Given the description of an element on the screen output the (x, y) to click on. 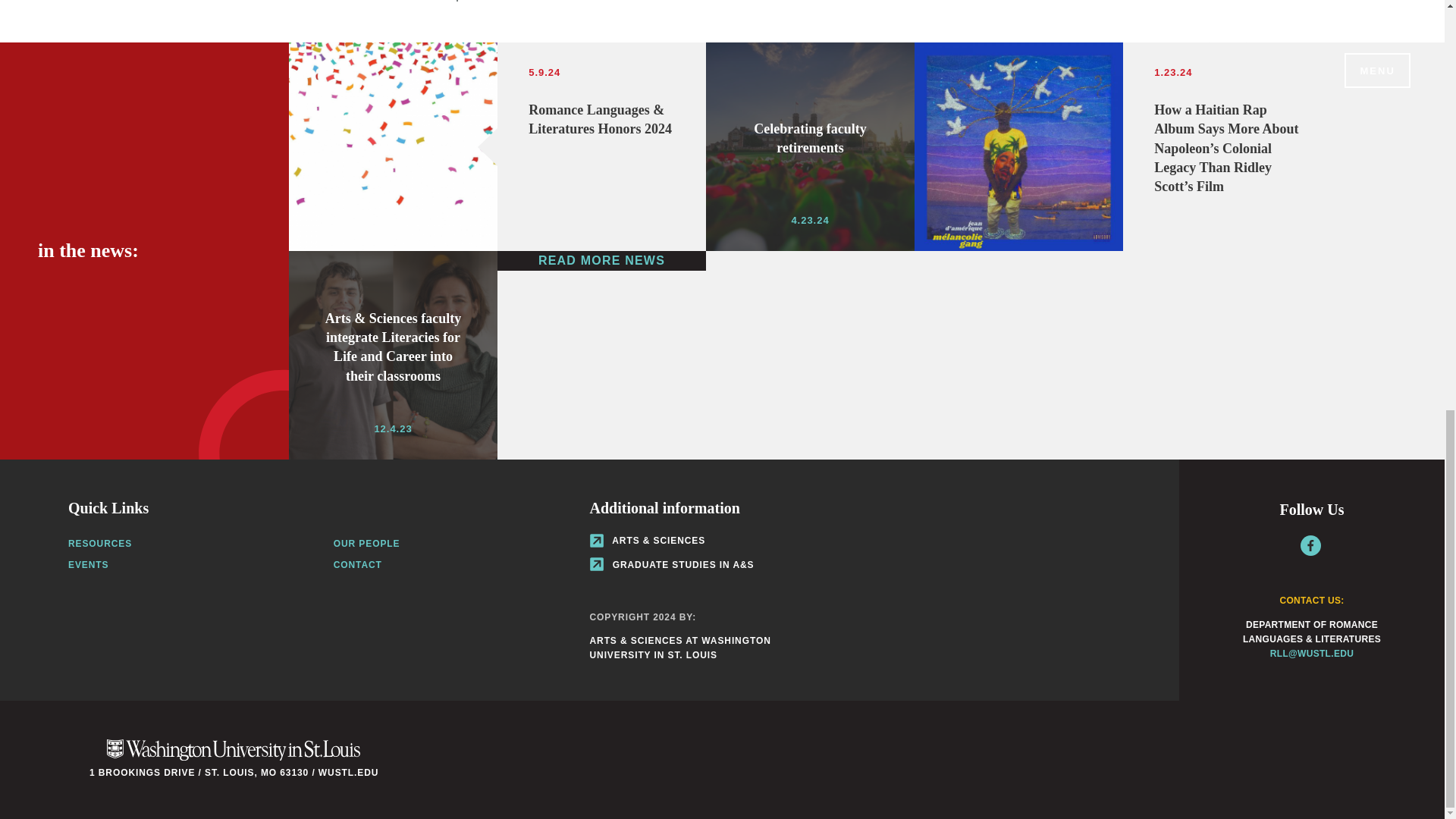
EVENTS (87, 564)
BACK TO ALL (810, 146)
OUR PEOPLE (504, 0)
JUMP TO TOP (366, 543)
RESOURCES (410, 0)
CONTACT (100, 543)
READ MORE NEWS (357, 564)
